Given the description of an element on the screen output the (x, y) to click on. 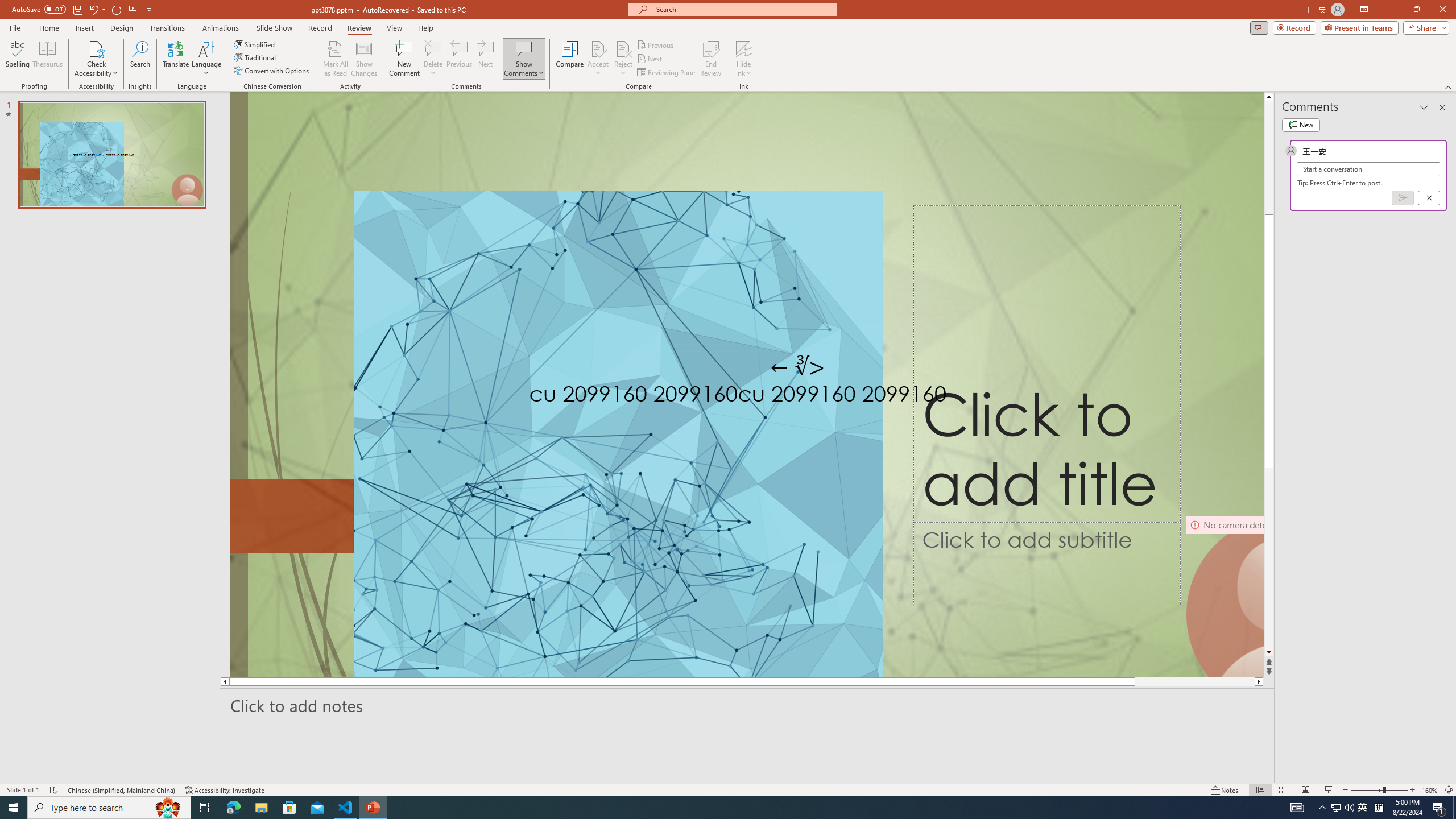
Compare (569, 58)
TextBox 7 (797, 367)
An abstract genetic concept (746, 383)
Show Comments (524, 58)
Page up (1268, 135)
Accept Change (598, 48)
Check Accessibility (95, 48)
Spelling... (17, 58)
